Given the description of an element on the screen output the (x, y) to click on. 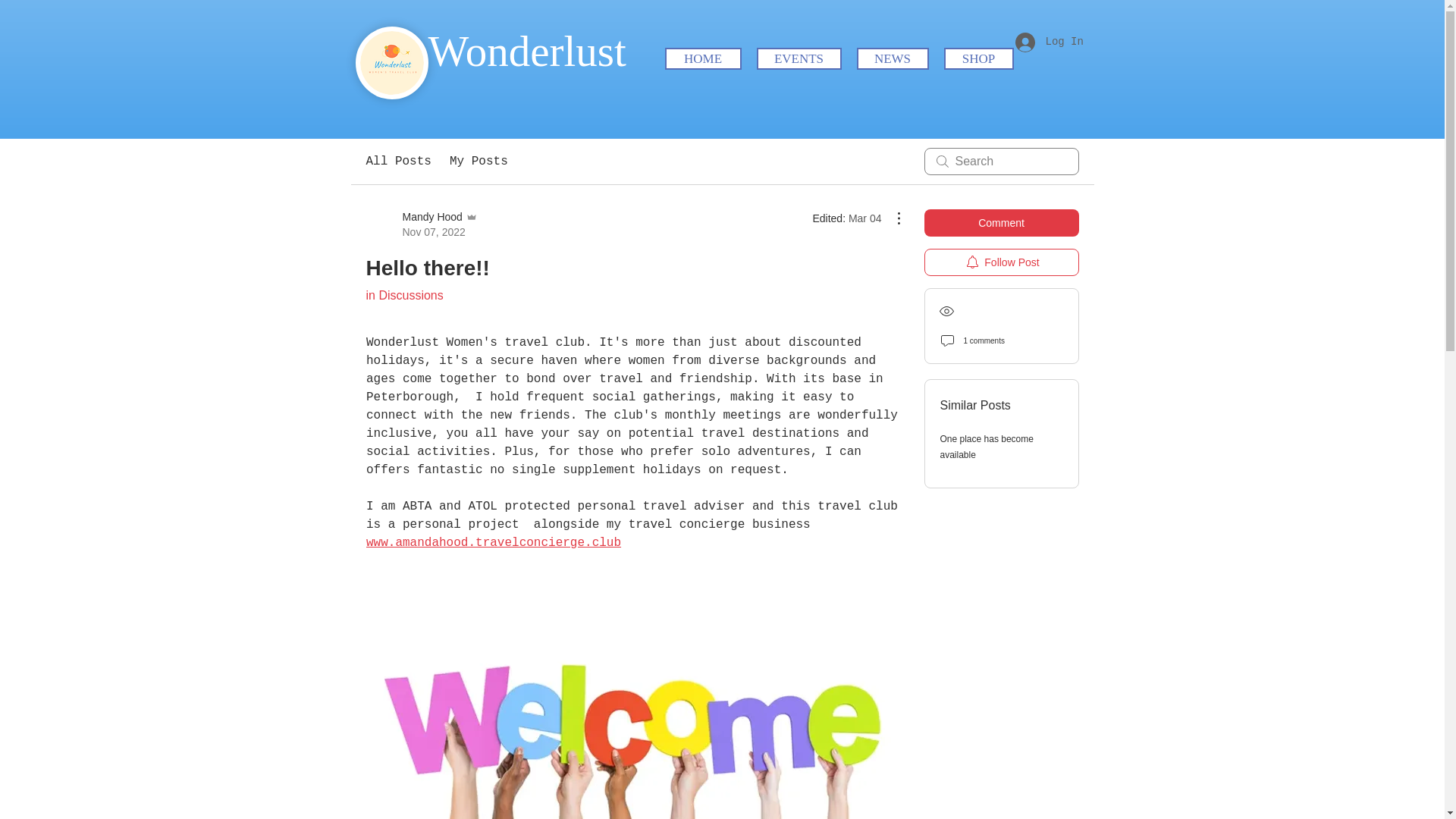
NEWS (892, 58)
www.amandahood.travelconcierge.club (492, 542)
SHOP (978, 58)
HOME (702, 58)
All Posts (397, 161)
Log In (1048, 41)
Comment (1000, 222)
in Discussions (403, 295)
My Posts (478, 161)
Follow Post (421, 224)
EVENTS (1000, 262)
One place has become available (799, 58)
